Given the description of an element on the screen output the (x, y) to click on. 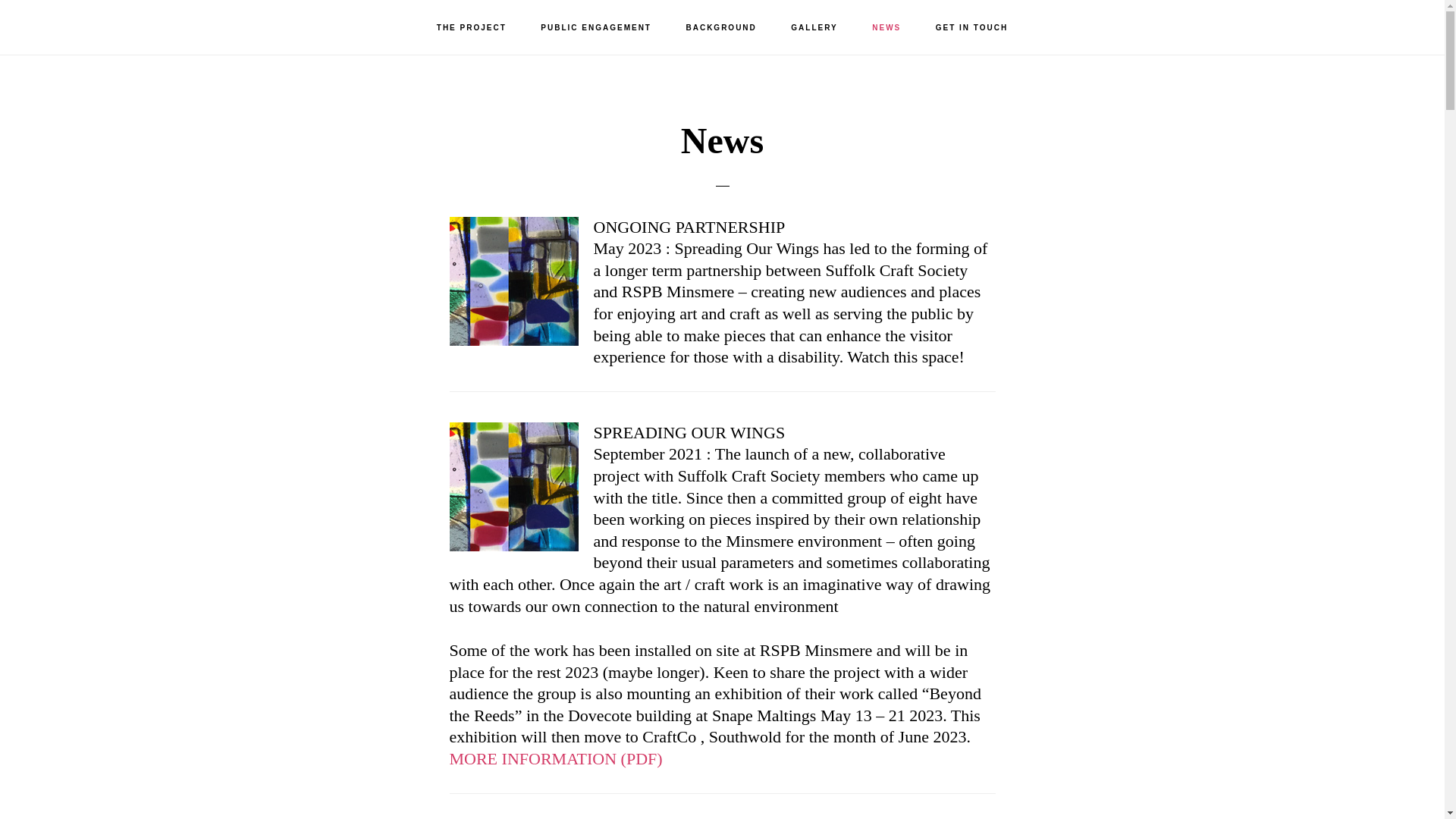
GET IN TOUCH (971, 27)
BACKGROUND (720, 27)
THE PROJECT (471, 27)
PUBLIC ENGAGEMENT (595, 27)
NEWS (886, 27)
GALLERY (813, 27)
